Given the description of an element on the screen output the (x, y) to click on. 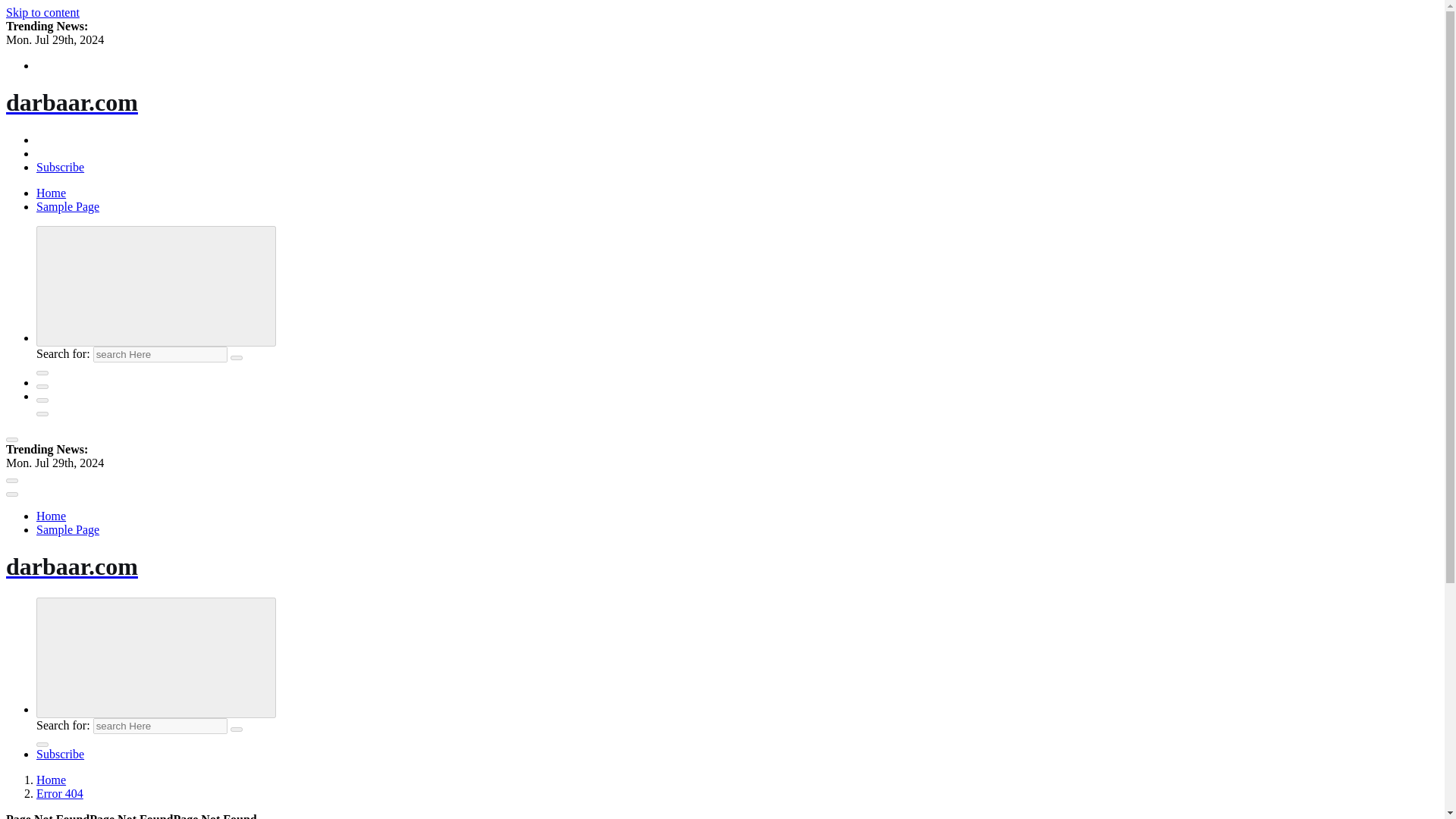
Home (50, 192)
Subscribe (60, 166)
Home (50, 515)
Home (50, 192)
Sample Page (67, 205)
Skip to content (42, 11)
Sample Page (67, 529)
Error 404 (59, 793)
Home (50, 779)
Home (50, 515)
Subscribe (60, 753)
